Given the description of an element on the screen output the (x, y) to click on. 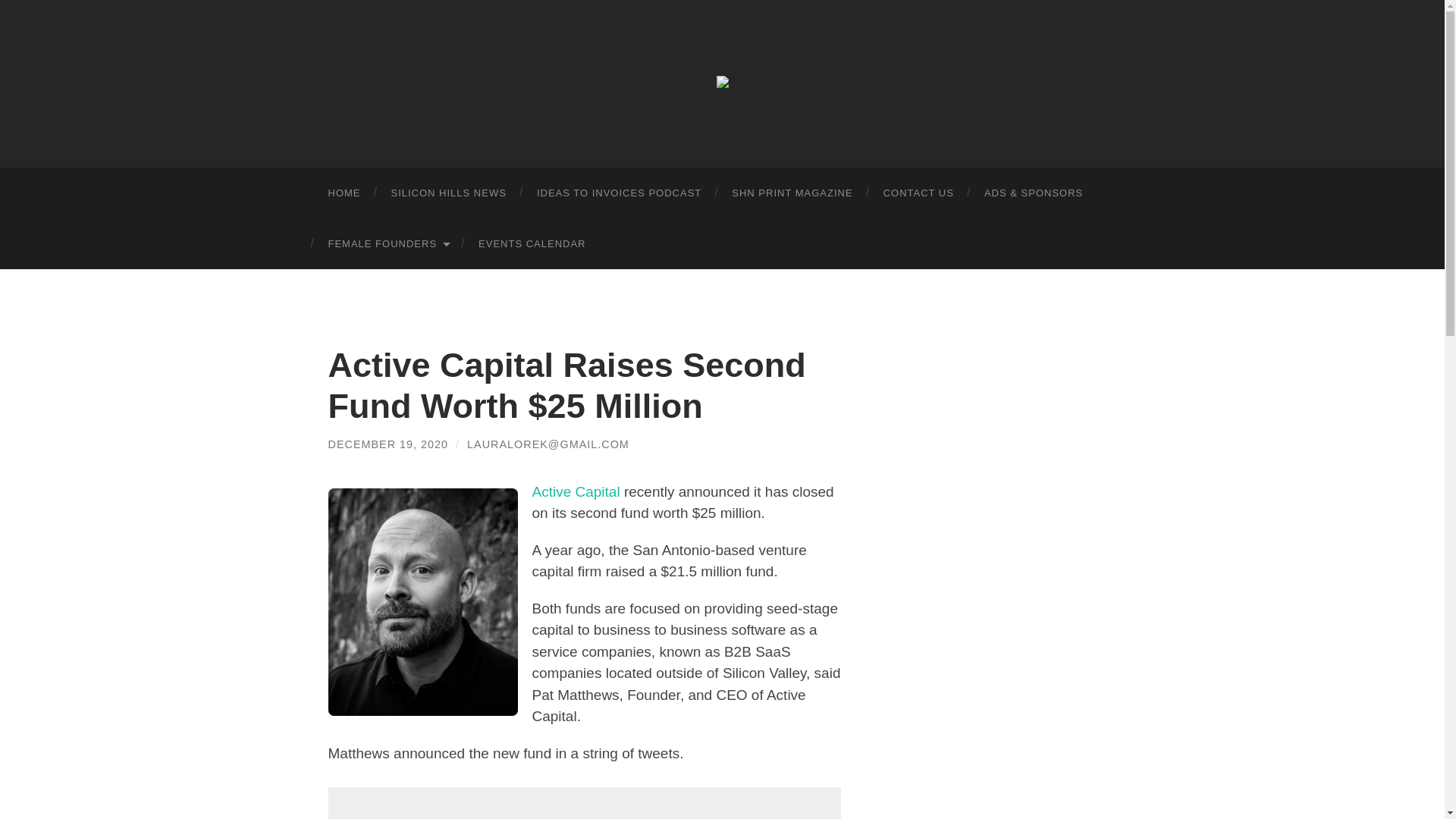
HOME (344, 192)
FEMALE FOUNDERS (388, 243)
SiliconHills (722, 81)
EVENTS CALENDAR (531, 243)
CONTACT US (918, 192)
DECEMBER 19, 2020 (387, 444)
Active Capital (578, 491)
IDEAS TO INVOICES PODCAST (618, 192)
SILICON HILLS NEWS (448, 192)
SHN PRINT MAGAZINE (791, 192)
